Given the description of an element on the screen output the (x, y) to click on. 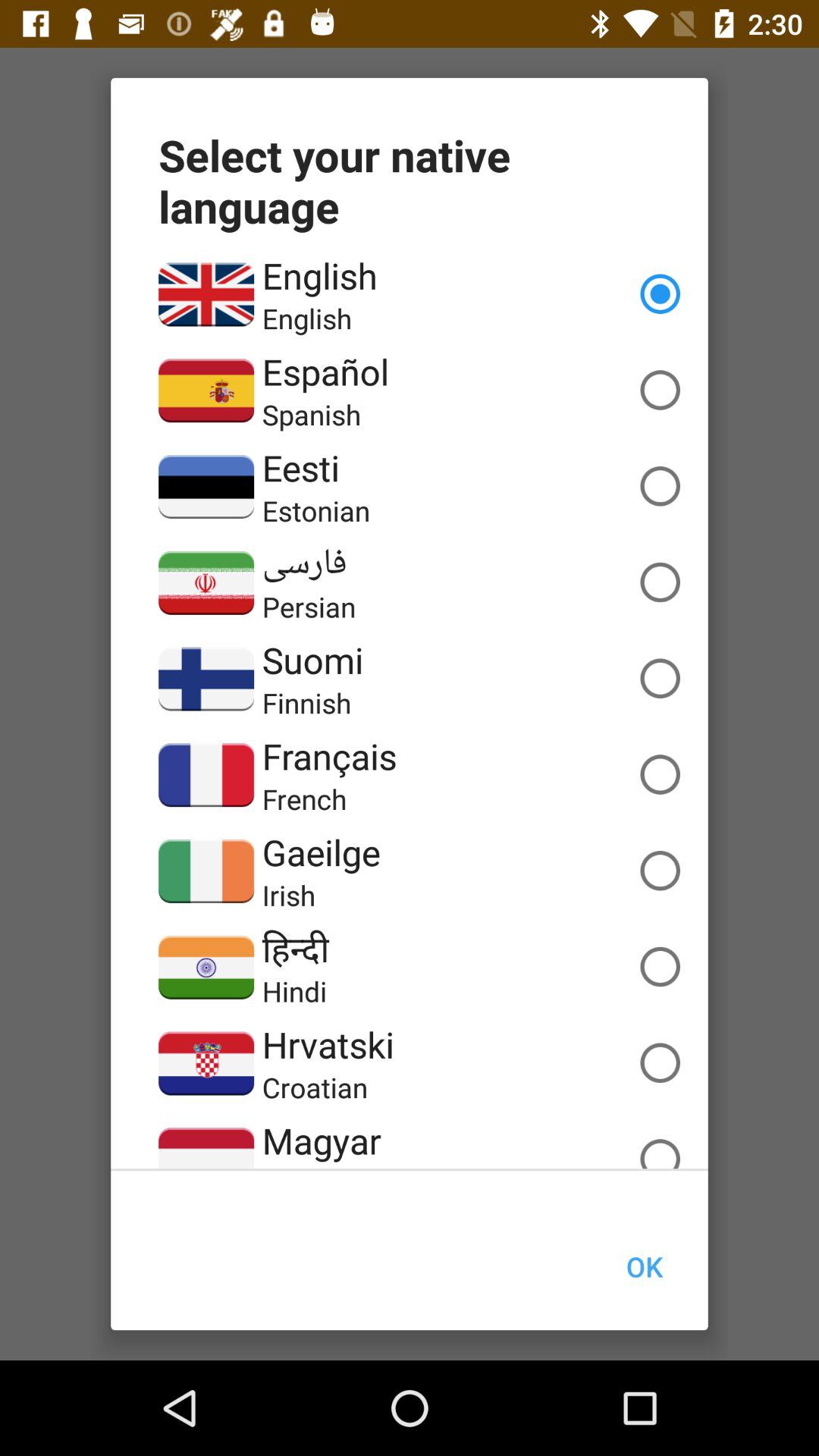
click item above croatian app (328, 1044)
